Given the description of an element on the screen output the (x, y) to click on. 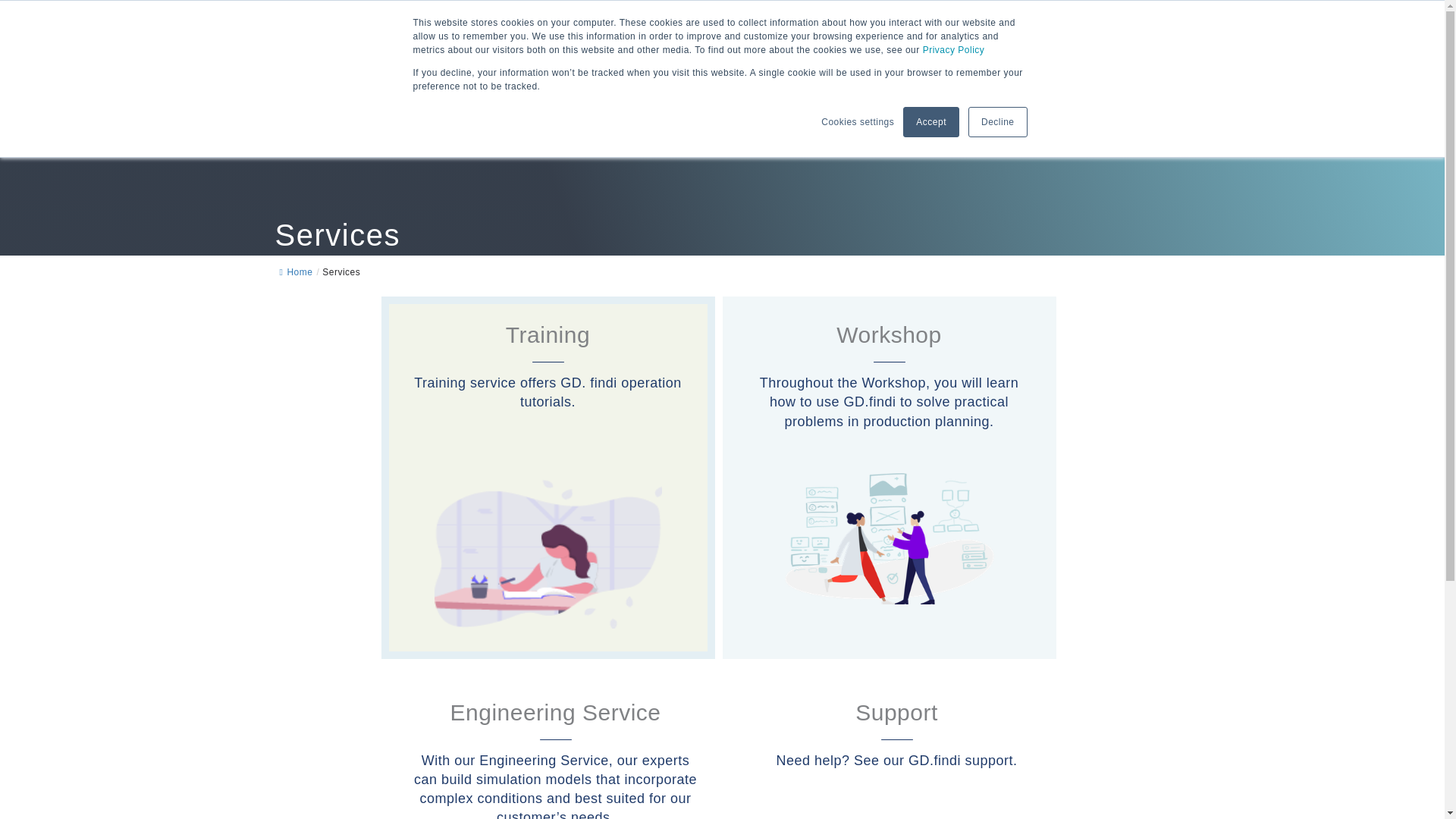
Accept (930, 122)
CONTACTS (1090, 87)
PRODUCTS (557, 87)
Decline (997, 122)
BEST FOR YOU (722, 87)
Cookies settings (857, 121)
RESOURCES (991, 87)
GD.findi PORTAL (982, 24)
Privacy Policy (954, 50)
Services (895, 750)
CASE (340, 271)
Japanese (638, 87)
